Given the description of an element on the screen output the (x, y) to click on. 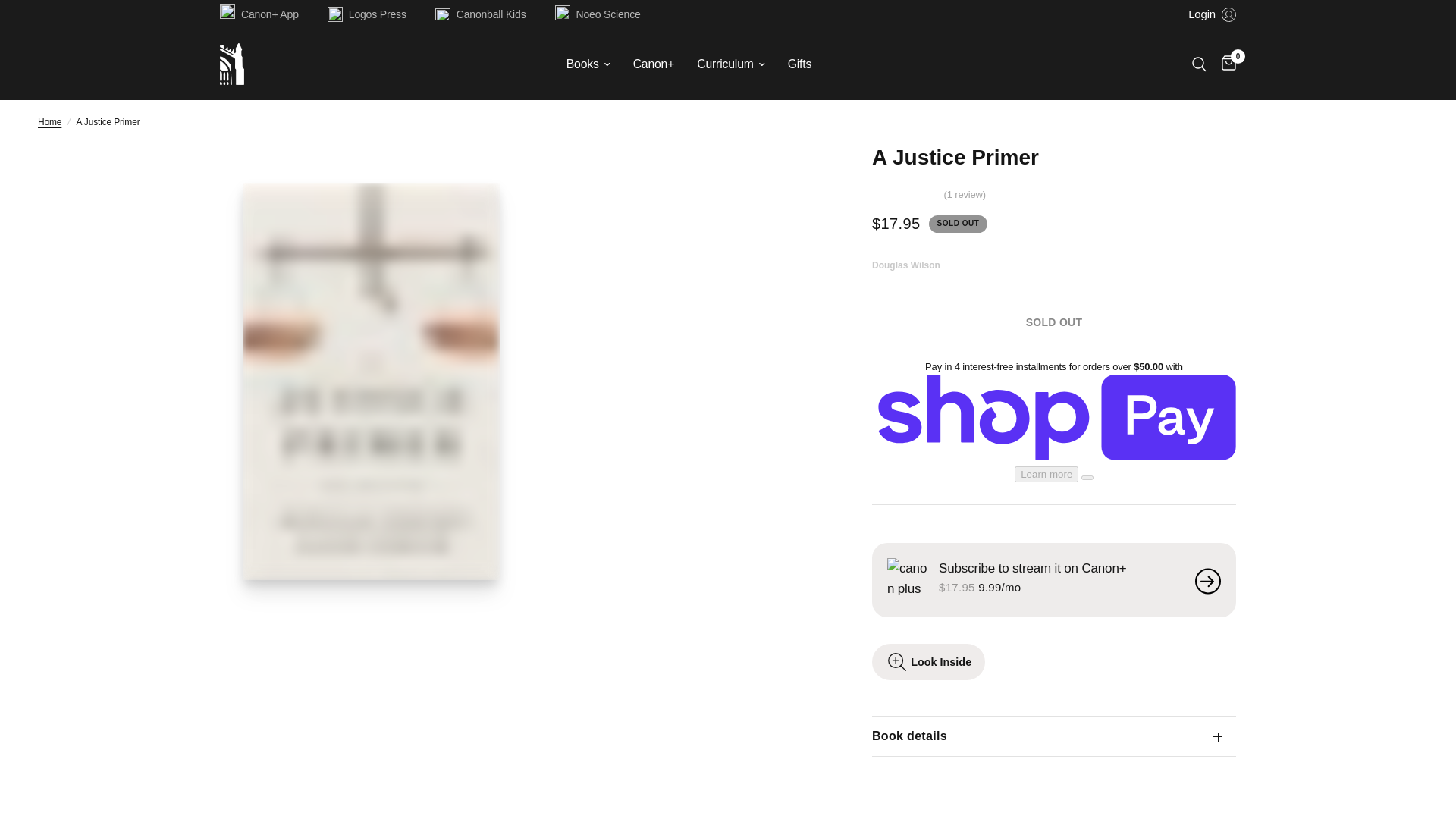
Canonball Kids (484, 14)
Logos Press (370, 14)
Login (1212, 14)
Noeo Science (600, 14)
